Given the description of an element on the screen output the (x, y) to click on. 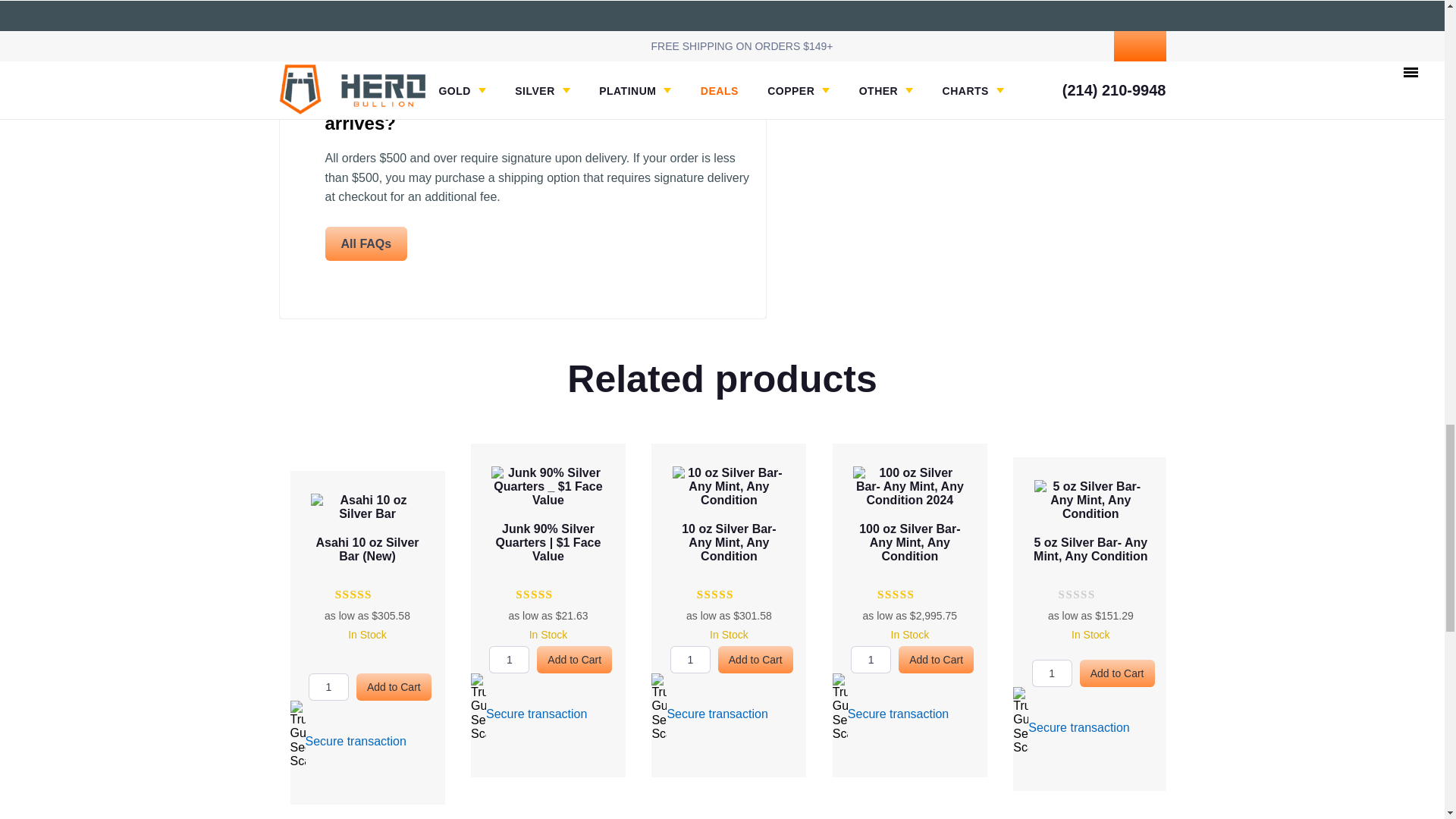
1 (689, 659)
1 (328, 687)
1 (509, 659)
1 (1051, 673)
1 (870, 659)
